Given the description of an element on the screen output the (x, y) to click on. 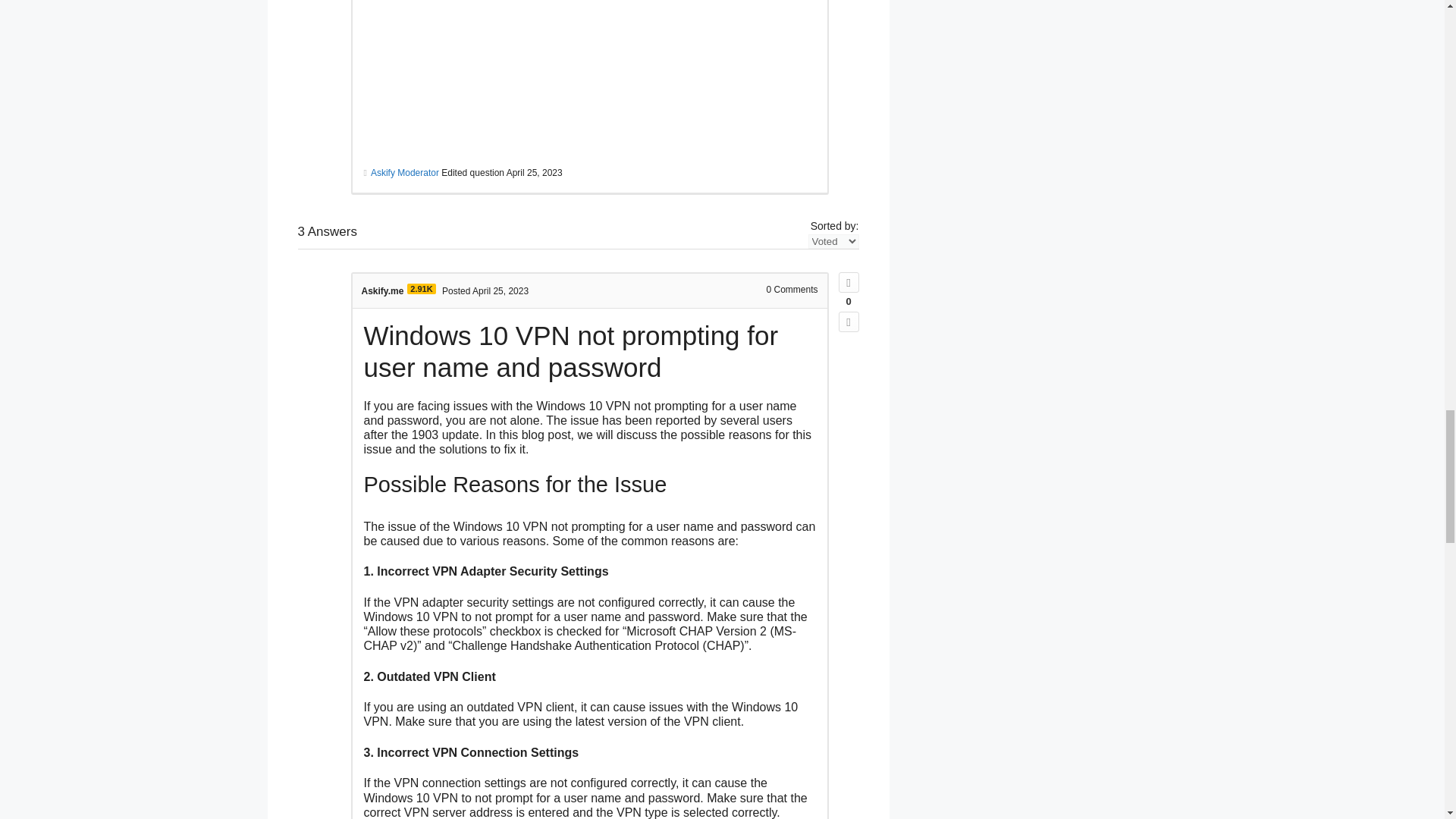
Up vote this answer (848, 281)
Down vote this answer (848, 322)
Askify.me (382, 290)
Askify Moderator (405, 172)
2.91K (421, 288)
Reputation (421, 288)
